Given the description of an element on the screen output the (x, y) to click on. 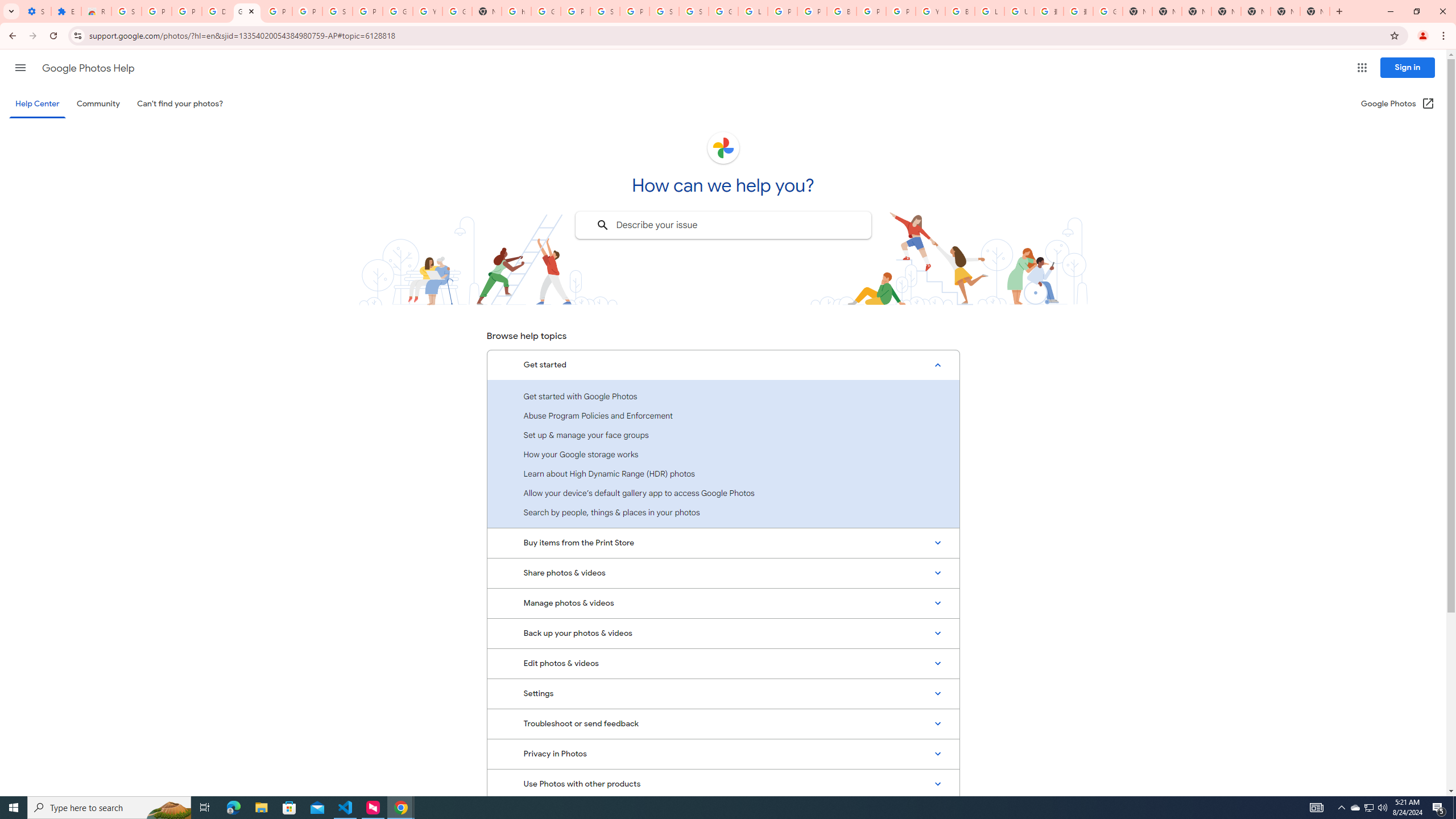
Get started, Expanded list with 7 items (722, 365)
Abuse Program Policies and Enforcement (722, 415)
Community (97, 103)
Sign in - Google Accounts (604, 11)
